Given the description of an element on the screen output the (x, y) to click on. 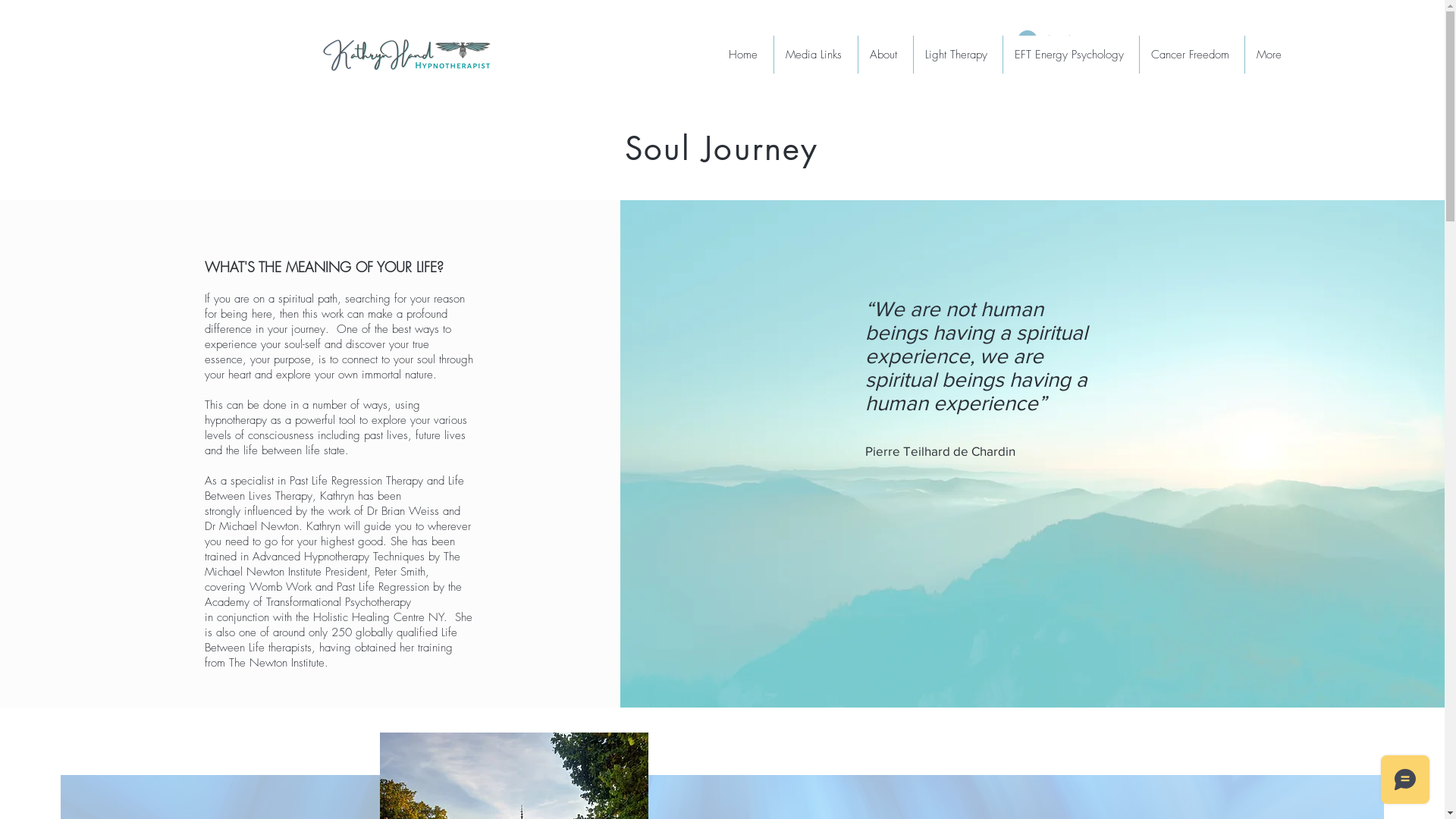
Light Therapy Element type: text (957, 54)
Cancer Freedom Element type: text (1191, 54)
Log In Element type: text (1046, 39)
EFT Energy Psychology Element type: text (1070, 54)
Media Links Element type: text (815, 54)
Home Element type: text (745, 54)
About Element type: text (885, 54)
